Given the description of an element on the screen output the (x, y) to click on. 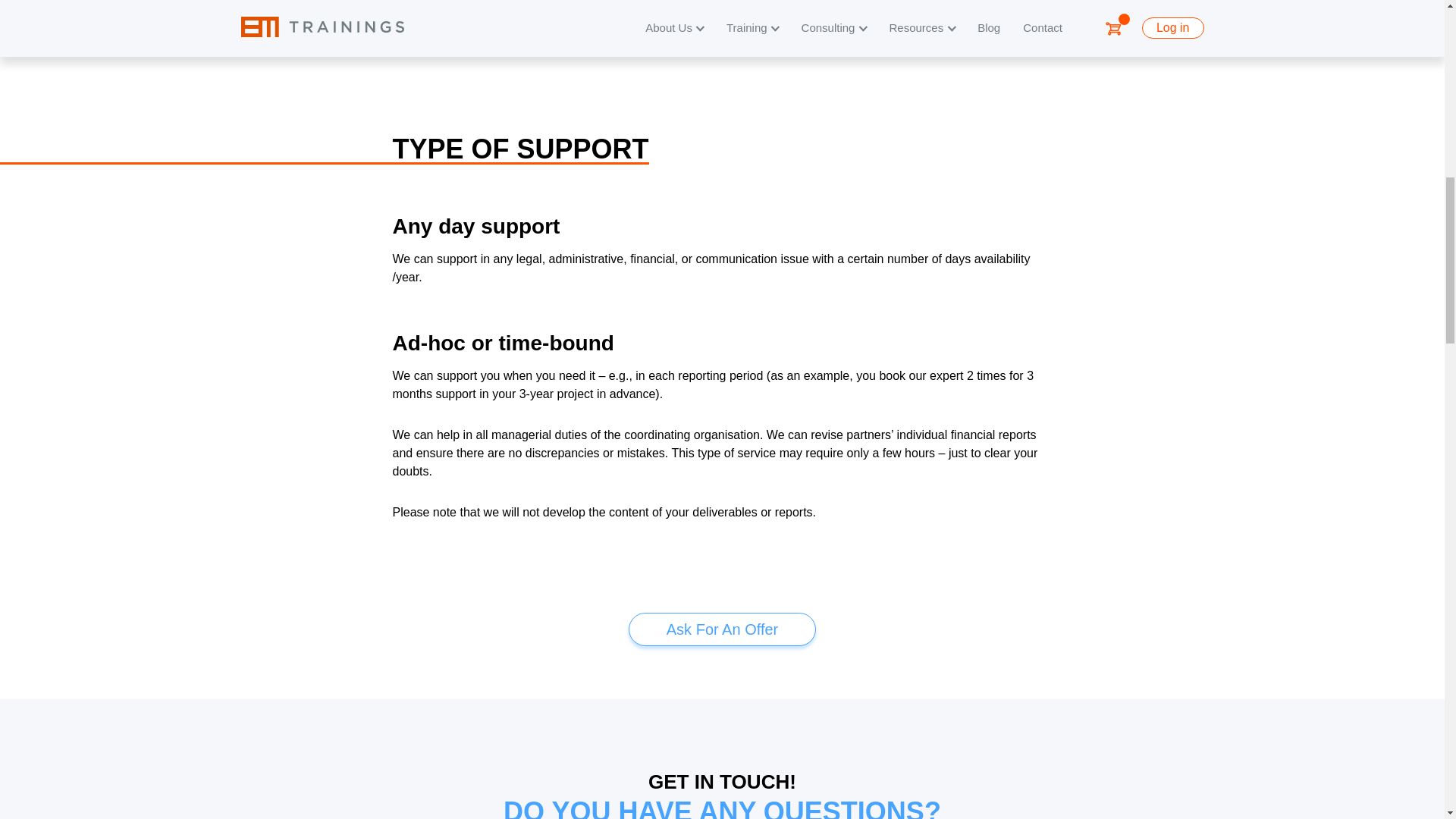
Ask For An Offer (721, 629)
